Given the description of an element on the screen output the (x, y) to click on. 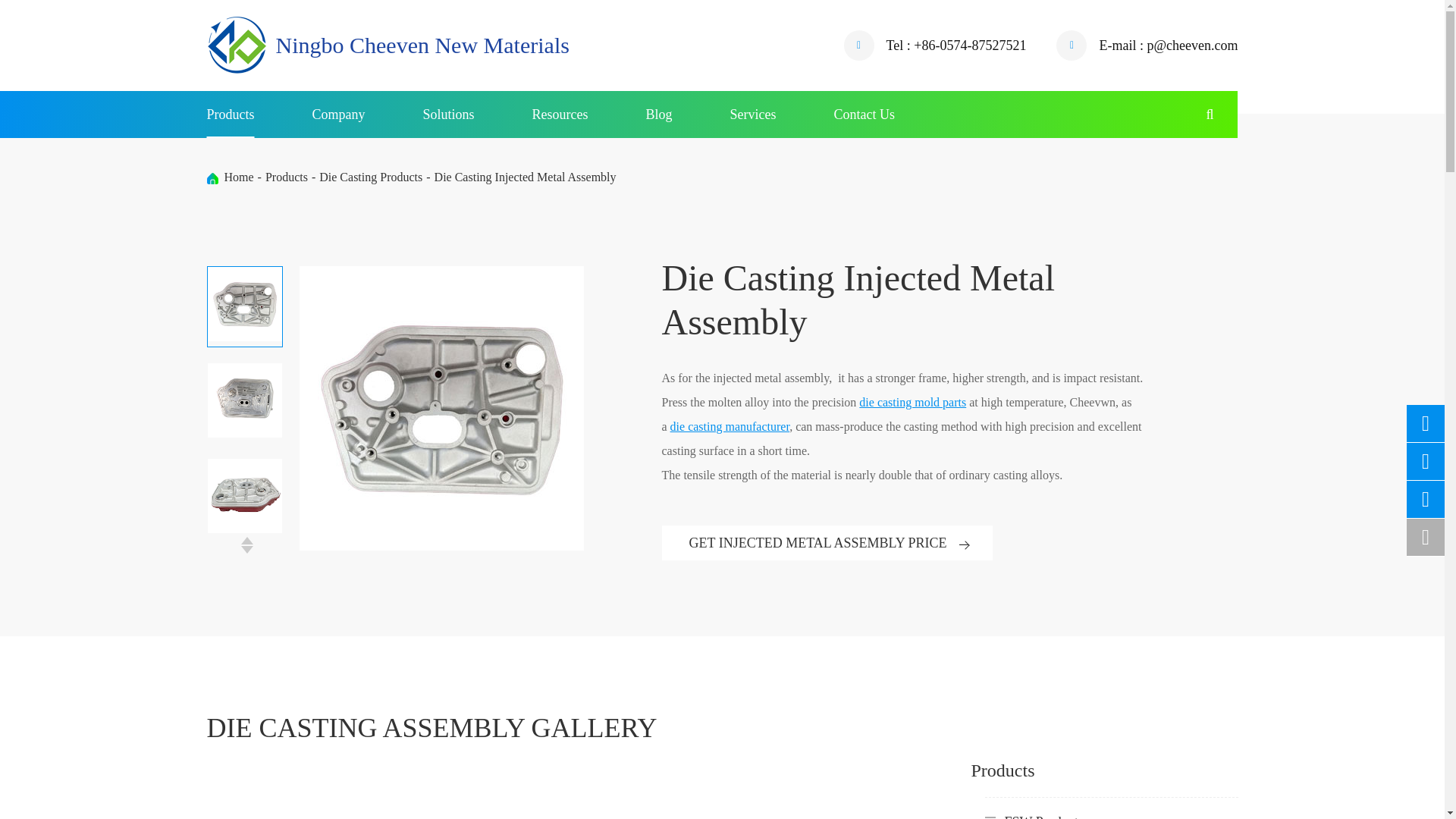
Products (229, 114)
die casting cost (245, 303)
Products (285, 176)
Ningbo Cheeven New Materials (387, 45)
injected metal assembly (245, 495)
Die Casting Injected Metal Assembly (524, 176)
Company (339, 114)
Die Casting Injected Metal Assembly (211, 178)
Ningbo Cheeven New Materials Technology Co., Ltd. (236, 45)
die casting price (245, 400)
